Given the description of an element on the screen output the (x, y) to click on. 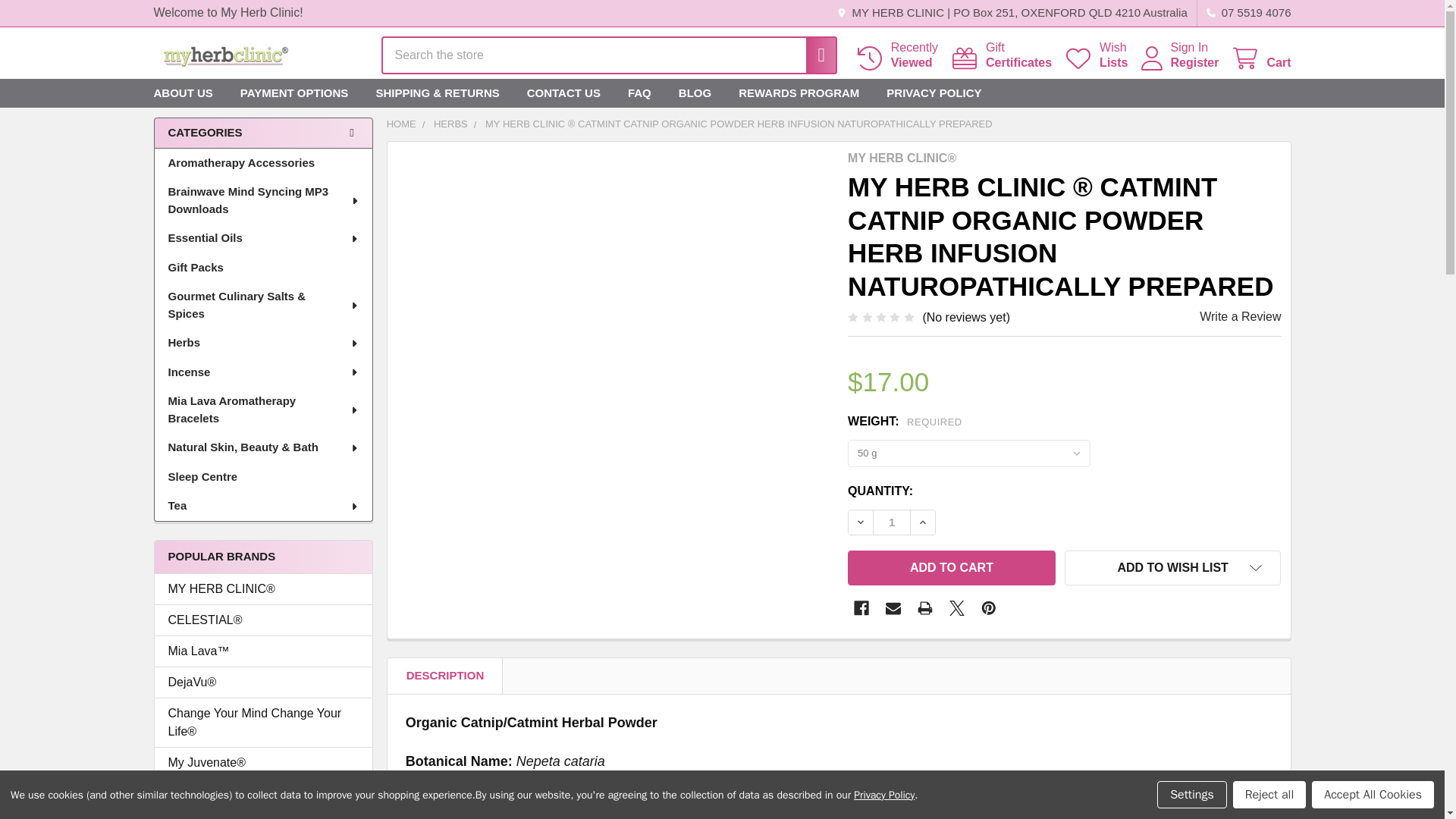
Email (893, 542)
Add to Cart (951, 497)
07 5519 4076 (1000, 55)
Cart (1243, 13)
Register (1260, 58)
Gift Certificates (1194, 62)
Facebook (1000, 55)
My Herb Clinic (861, 542)
Wish Lists (224, 55)
